Given the description of an element on the screen output the (x, y) to click on. 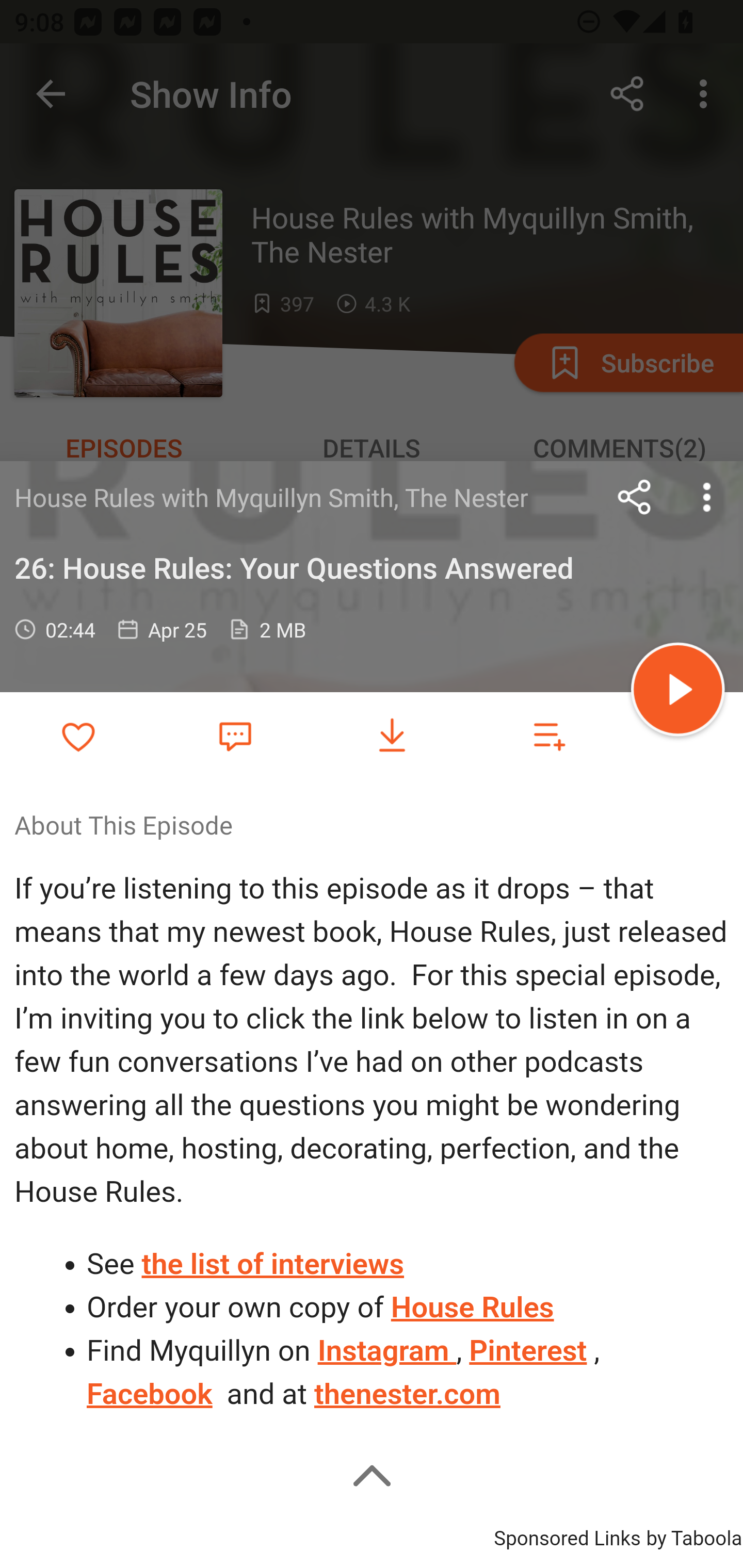
Share (634, 496)
more options (706, 496)
Play (677, 692)
Favorite (234, 735)
Add to Favorites (78, 735)
Download (391, 735)
Add to playlist (548, 735)
